Given the description of an element on the screen output the (x, y) to click on. 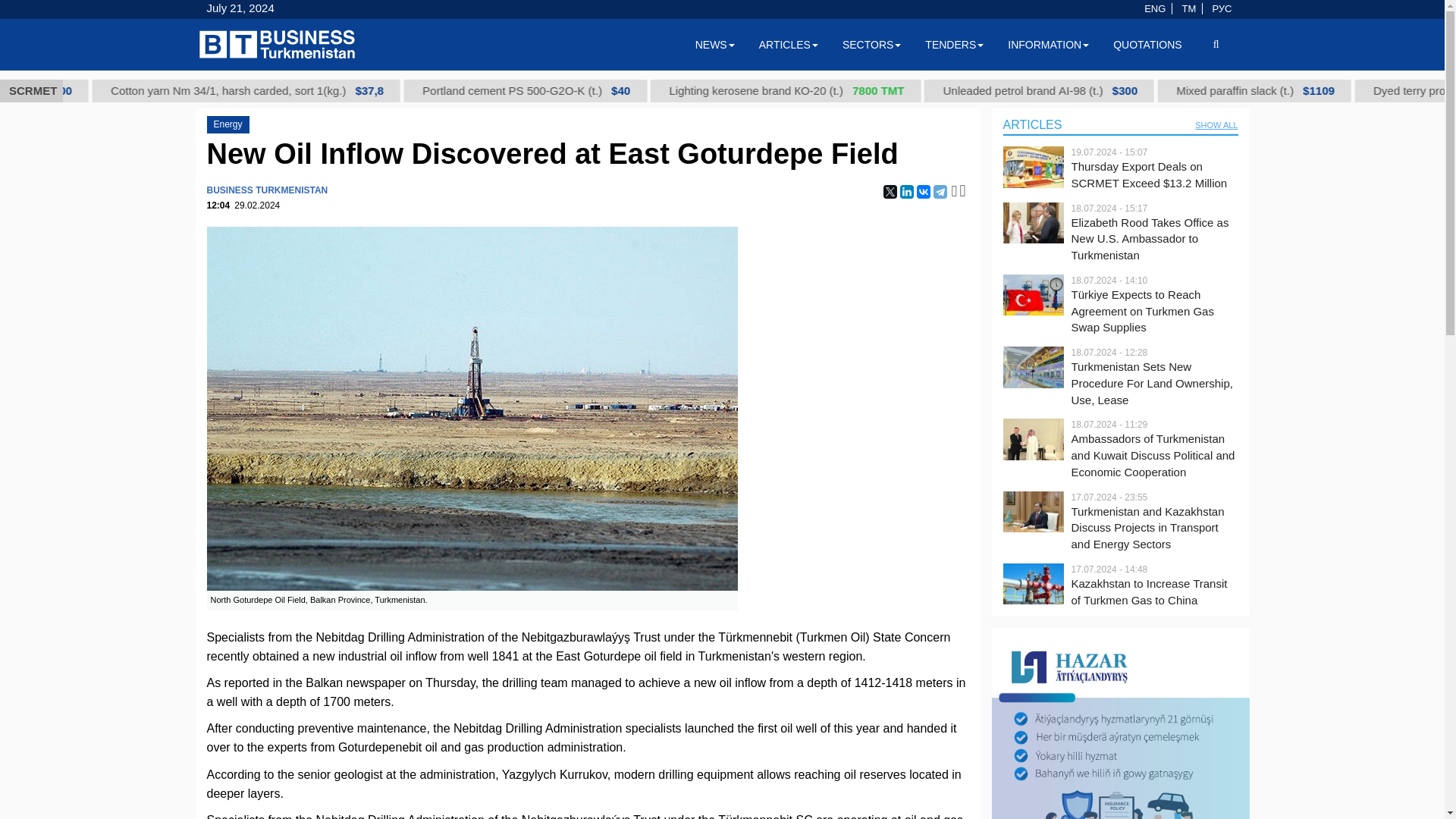
Telegram (940, 192)
Kazakhstan to Increase Transit of Turkmen Gas to China (1153, 592)
LinkedIn (906, 192)
Energy (227, 124)
Twitter (889, 192)
VKontakte (923, 192)
